Given the description of an element on the screen output the (x, y) to click on. 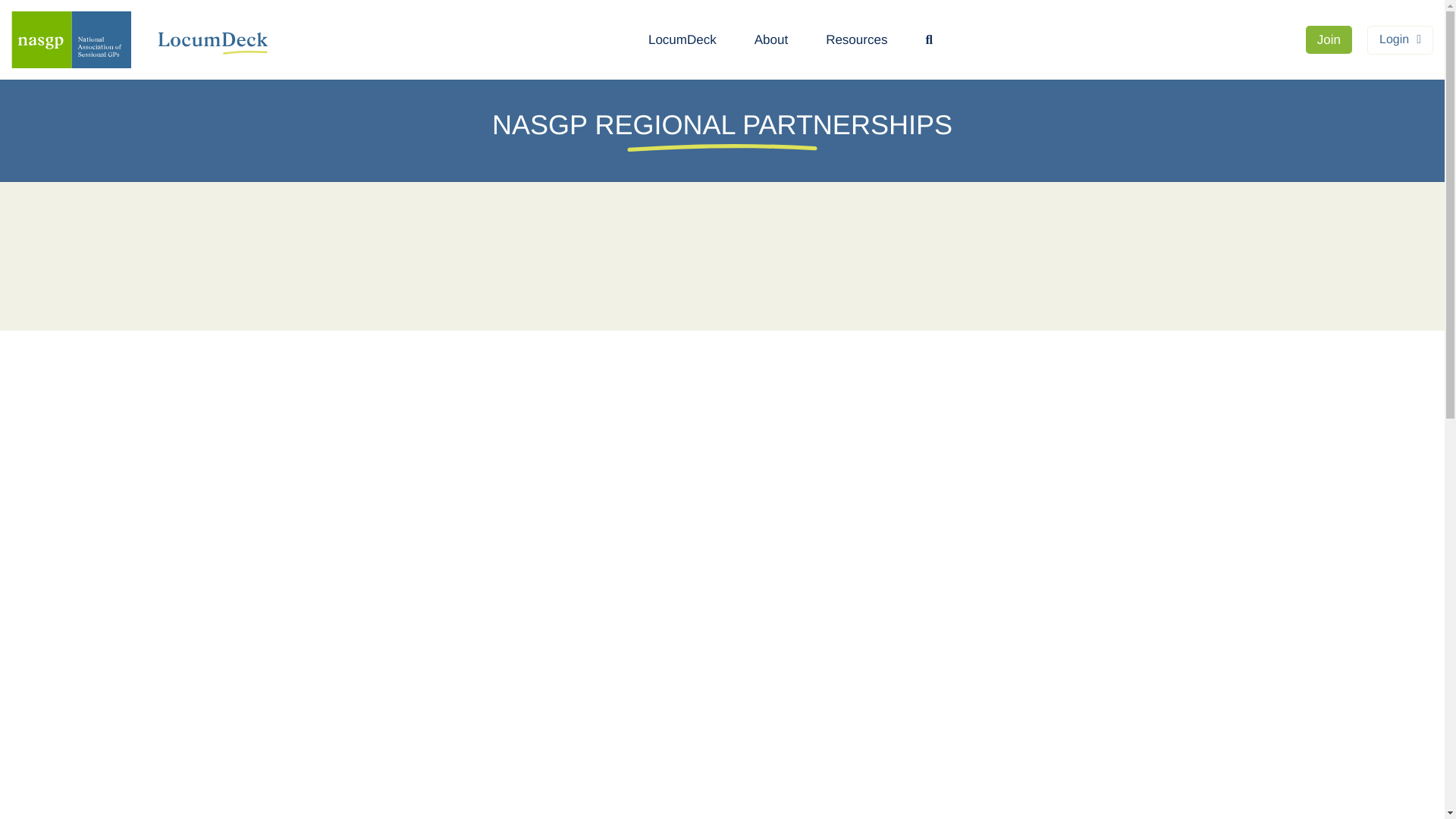
Resources (855, 39)
Login (1399, 39)
LocumDeck (682, 39)
Join (1329, 39)
About (770, 39)
